Given the description of an element on the screen output the (x, y) to click on. 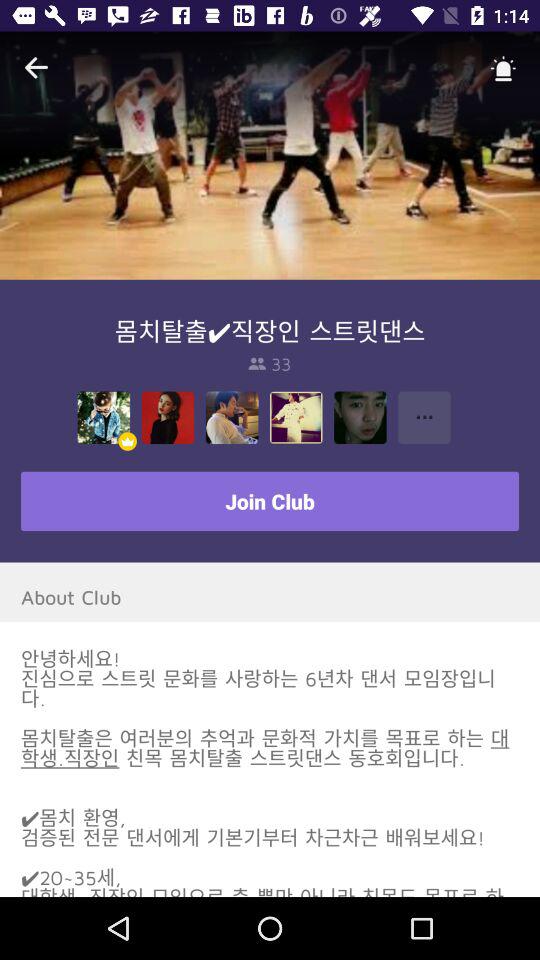
text below about club (269, 771)
